Given the description of an element on the screen output the (x, y) to click on. 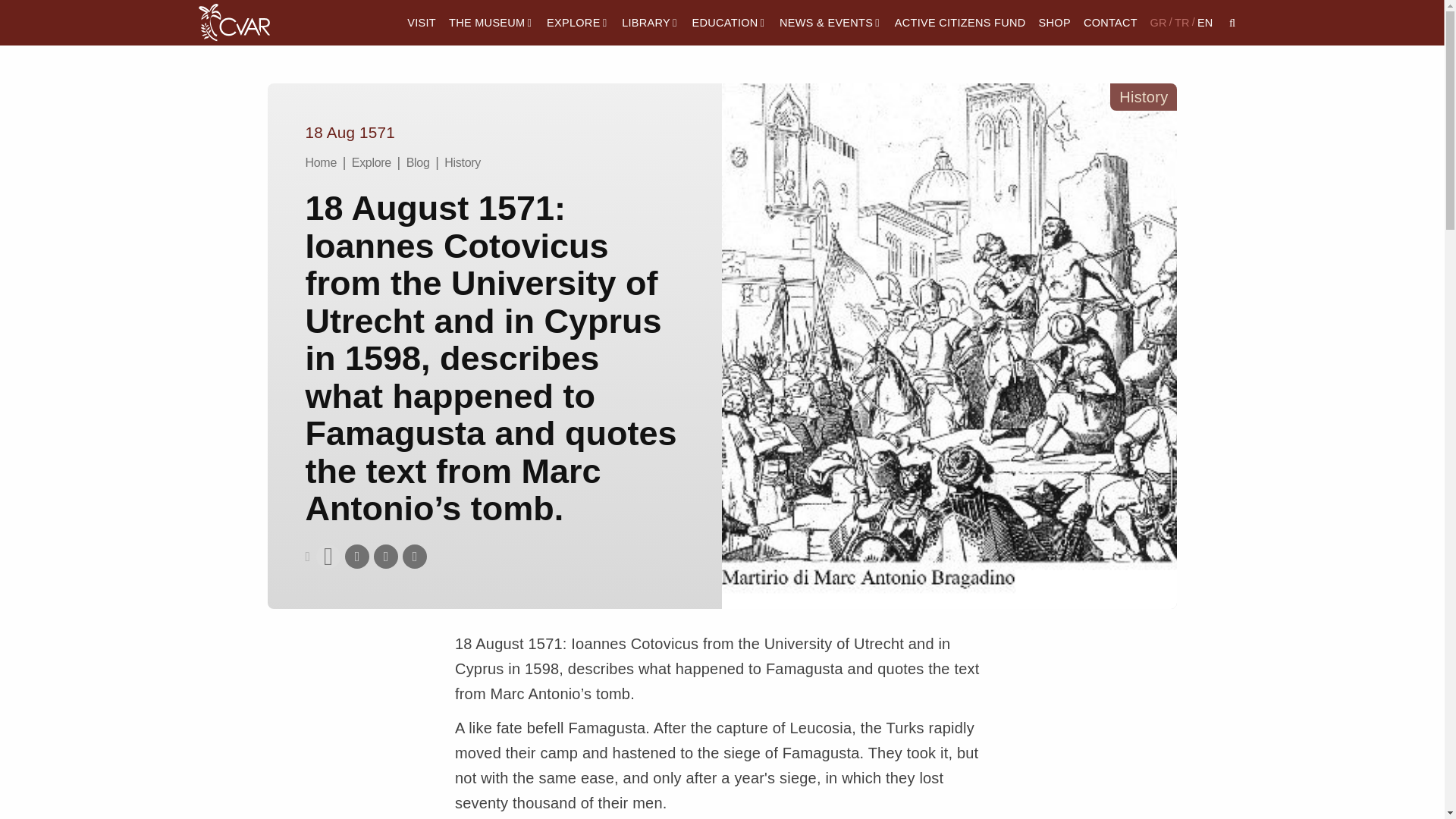
EXPLORE (577, 22)
LIBRARY (650, 22)
VISIT (421, 22)
THE MUSEUM (490, 22)
EDUCATION (729, 22)
